Given the description of an element on the screen output the (x, y) to click on. 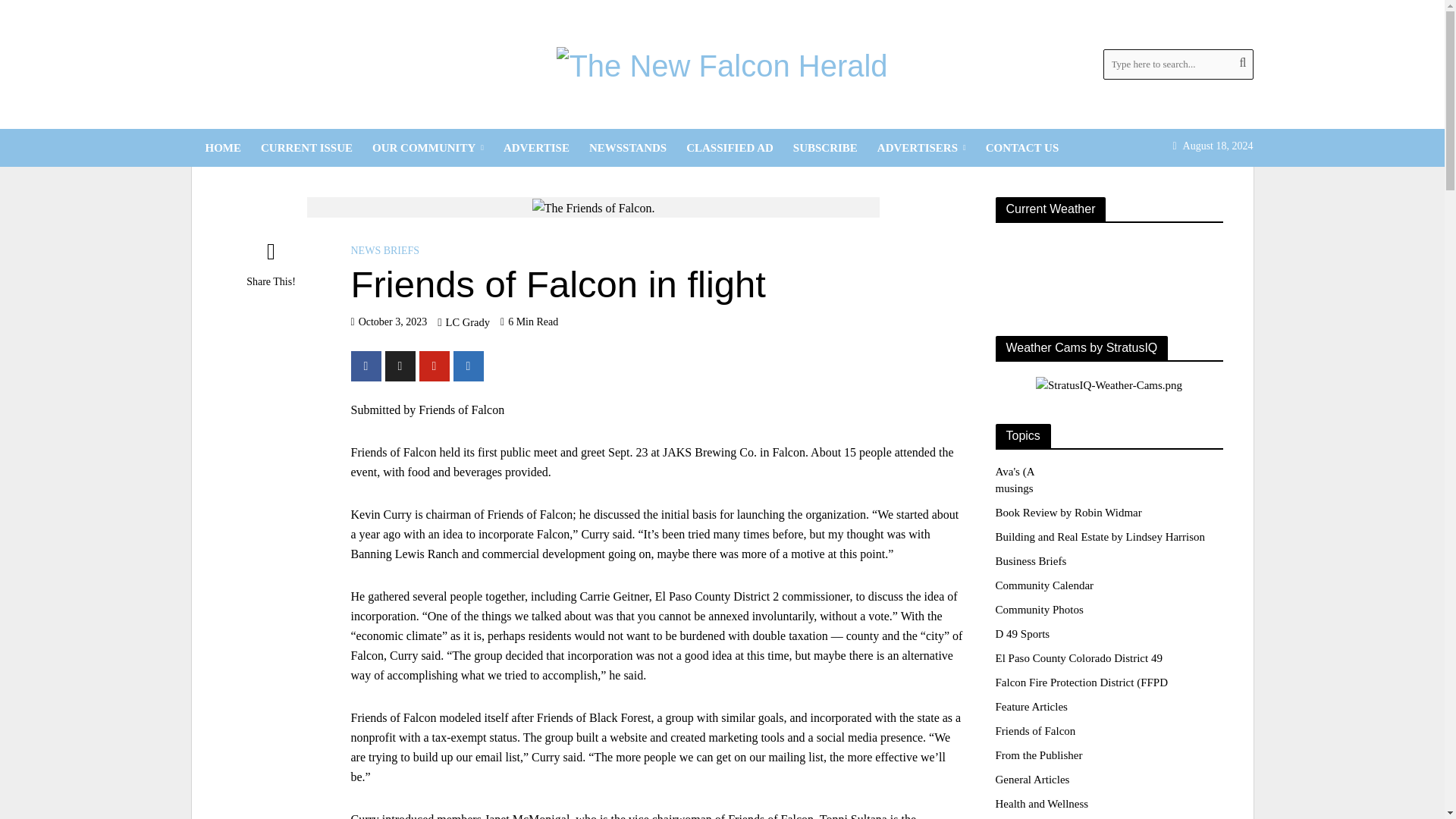
ADVERTISE (536, 147)
ADVERTISERS (921, 147)
CONTACT US (1021, 147)
HOME (223, 147)
CLASSIFIED AD (730, 147)
SUBSCRIBE (825, 147)
CURRENT ISSUE (306, 147)
NEWSSTANDS (628, 147)
OUR COMMUNITY (427, 147)
